Given the description of an element on the screen output the (x, y) to click on. 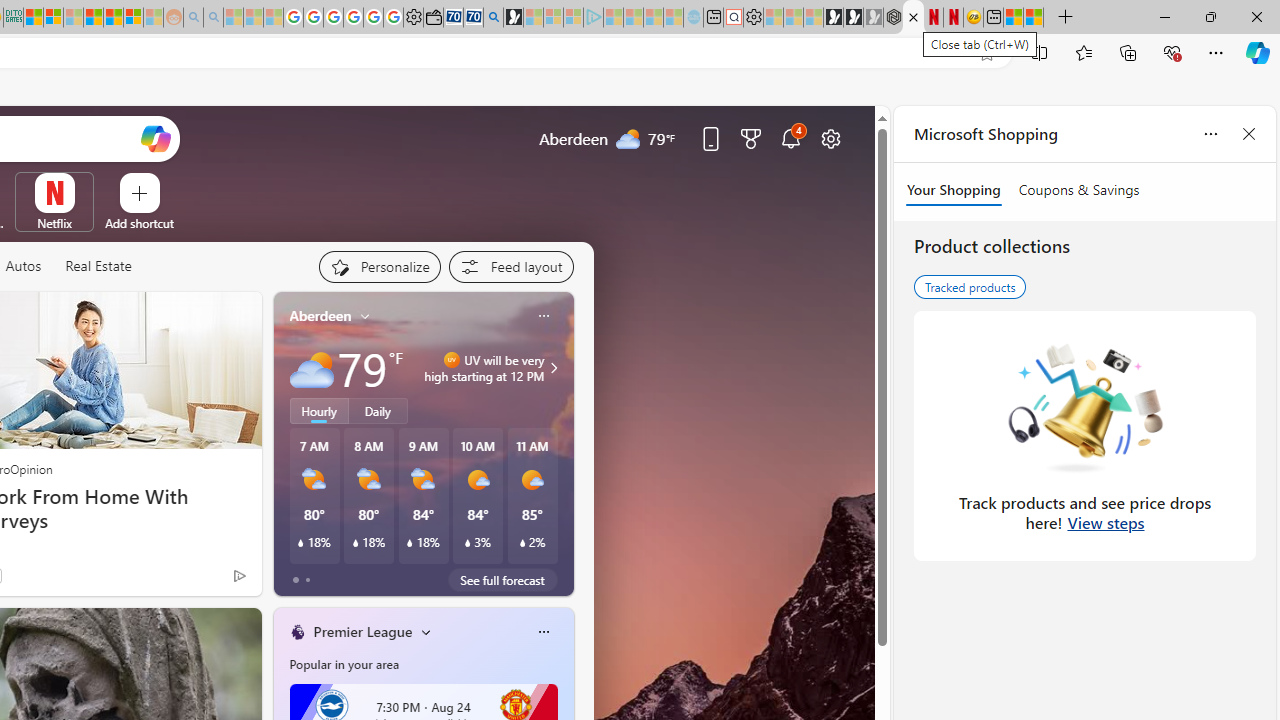
Page settings (831, 138)
